Given the description of an element on the screen output the (x, y) to click on. 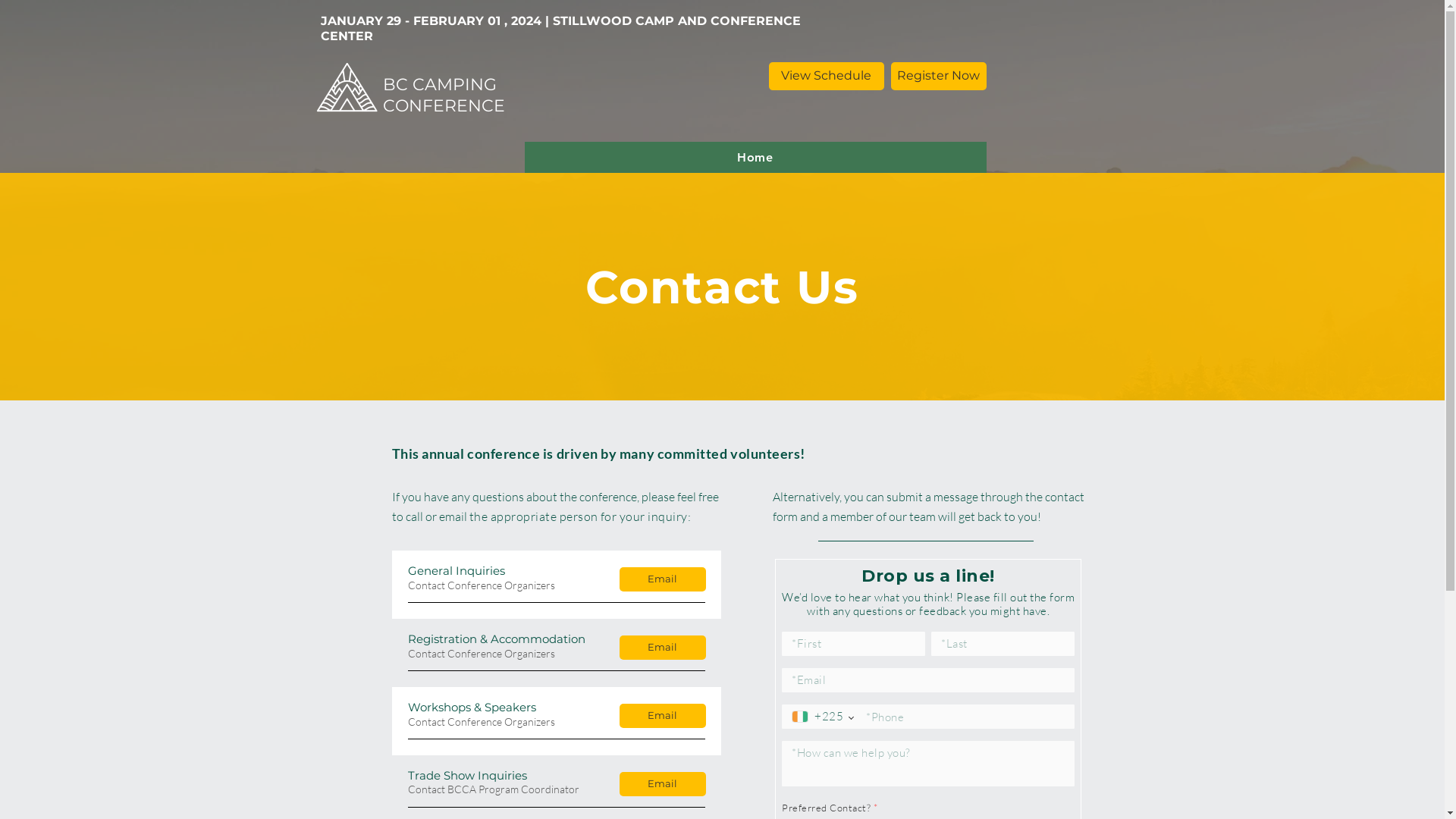
Email Element type: text (661, 647)
Email Element type: text (661, 579)
Email Element type: text (661, 715)
Home Element type: text (755, 156)
Register Now Element type: text (937, 76)
View Schedule Element type: text (826, 76)
Email Element type: text (661, 783)
